Given the description of an element on the screen output the (x, y) to click on. 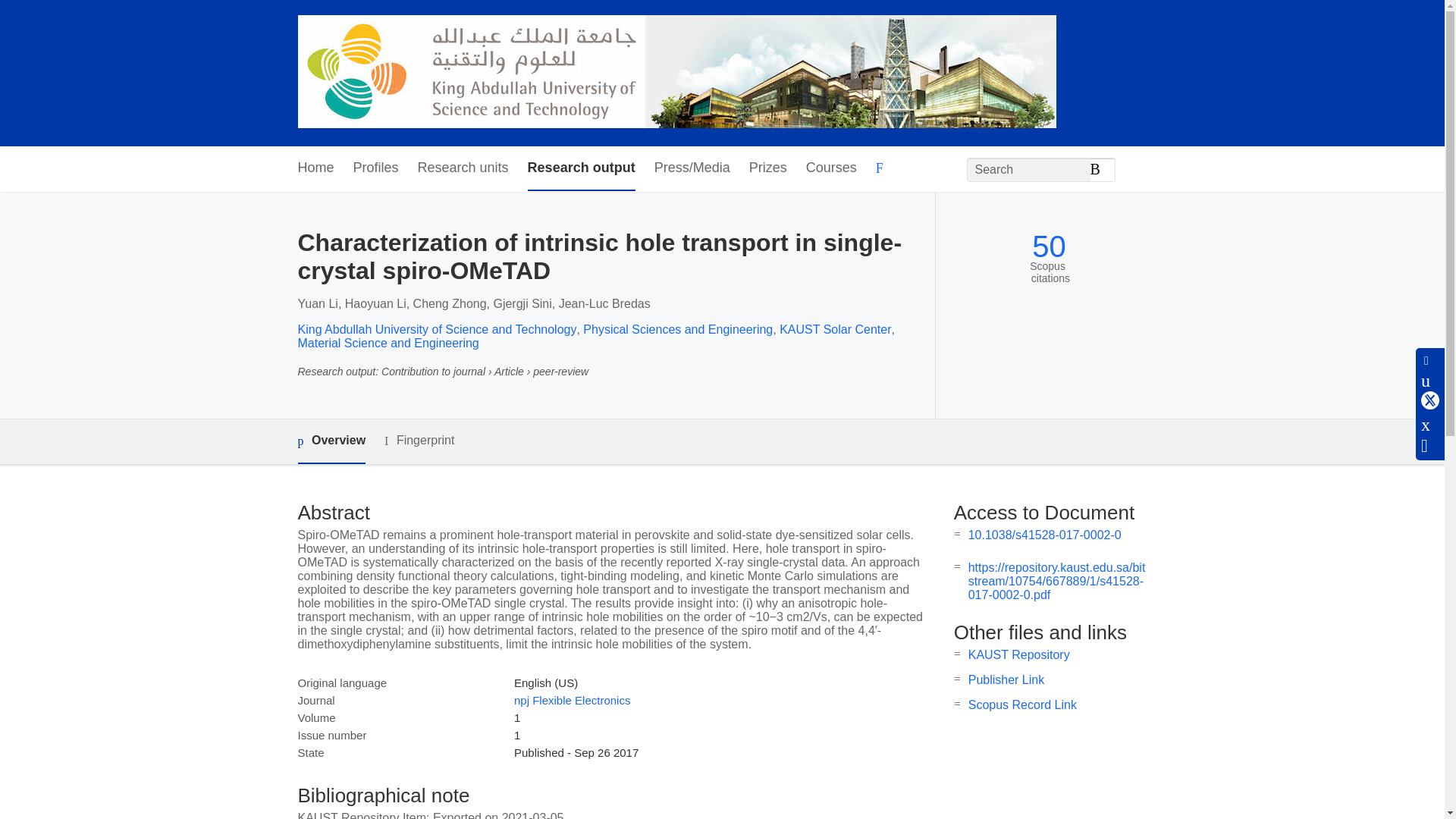
Physical Sciences and Engineering (678, 328)
Material Science and Engineering (388, 342)
Research units (462, 168)
Overview (331, 441)
Scopus Record Link (1022, 704)
KAUST Repository (1019, 654)
Research output (580, 168)
KAUST PORTAL FOR RESEARCHERS AND STUDENTS Home (676, 73)
Profiles (375, 168)
